Given the description of an element on the screen output the (x, y) to click on. 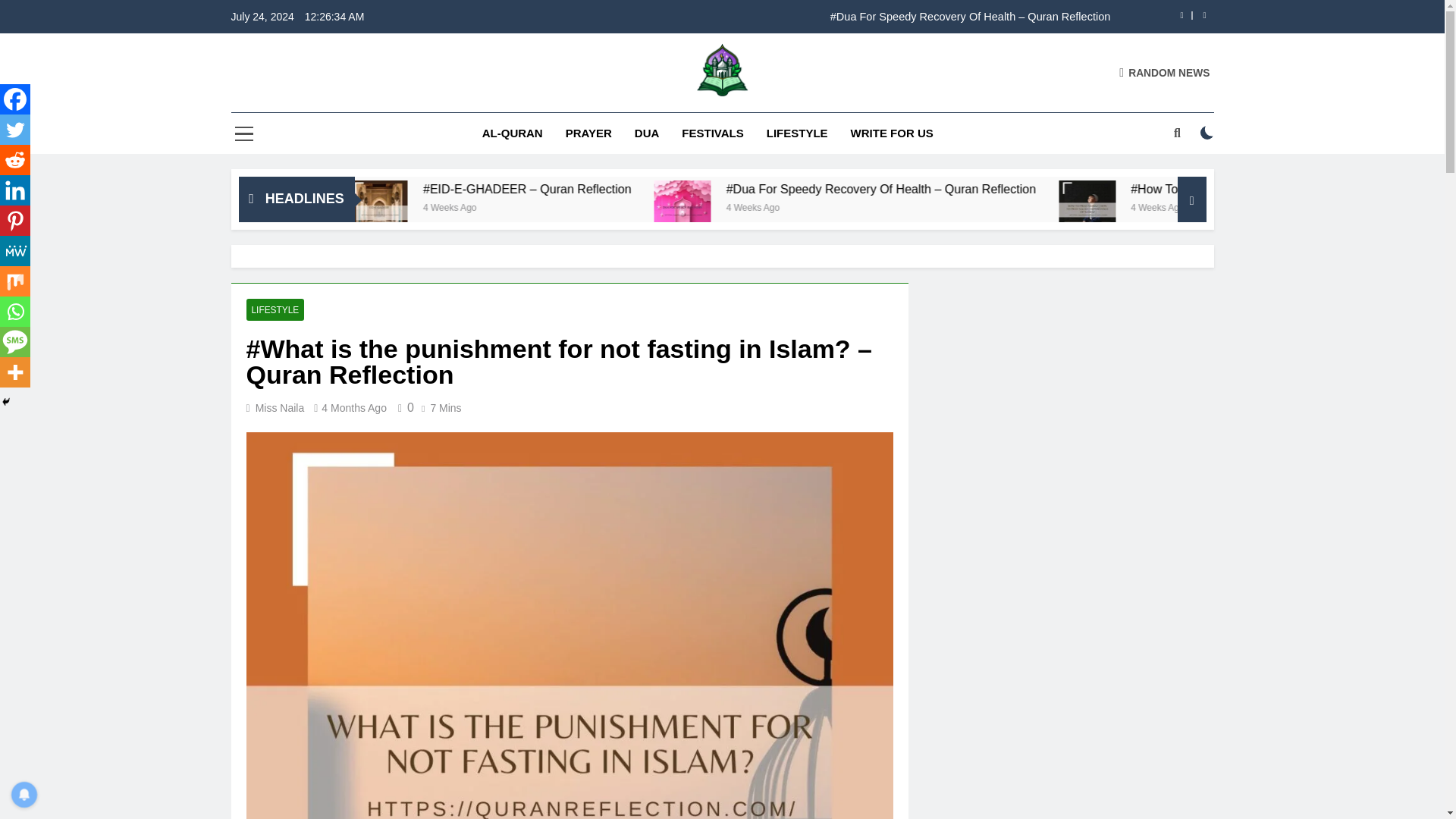
DUA (647, 133)
WRITE FOR US (892, 133)
FESTIVALS (711, 133)
PRAYER (588, 133)
AL-QURAN (512, 133)
on (1206, 132)
4 Weeks Ago (408, 205)
LIFESTYLE (797, 133)
RANDOM NEWS (1164, 72)
4 Weeks Ago (724, 205)
Quran Reflection (606, 119)
4 Weeks Ago (1019, 205)
